Given the description of an element on the screen output the (x, y) to click on. 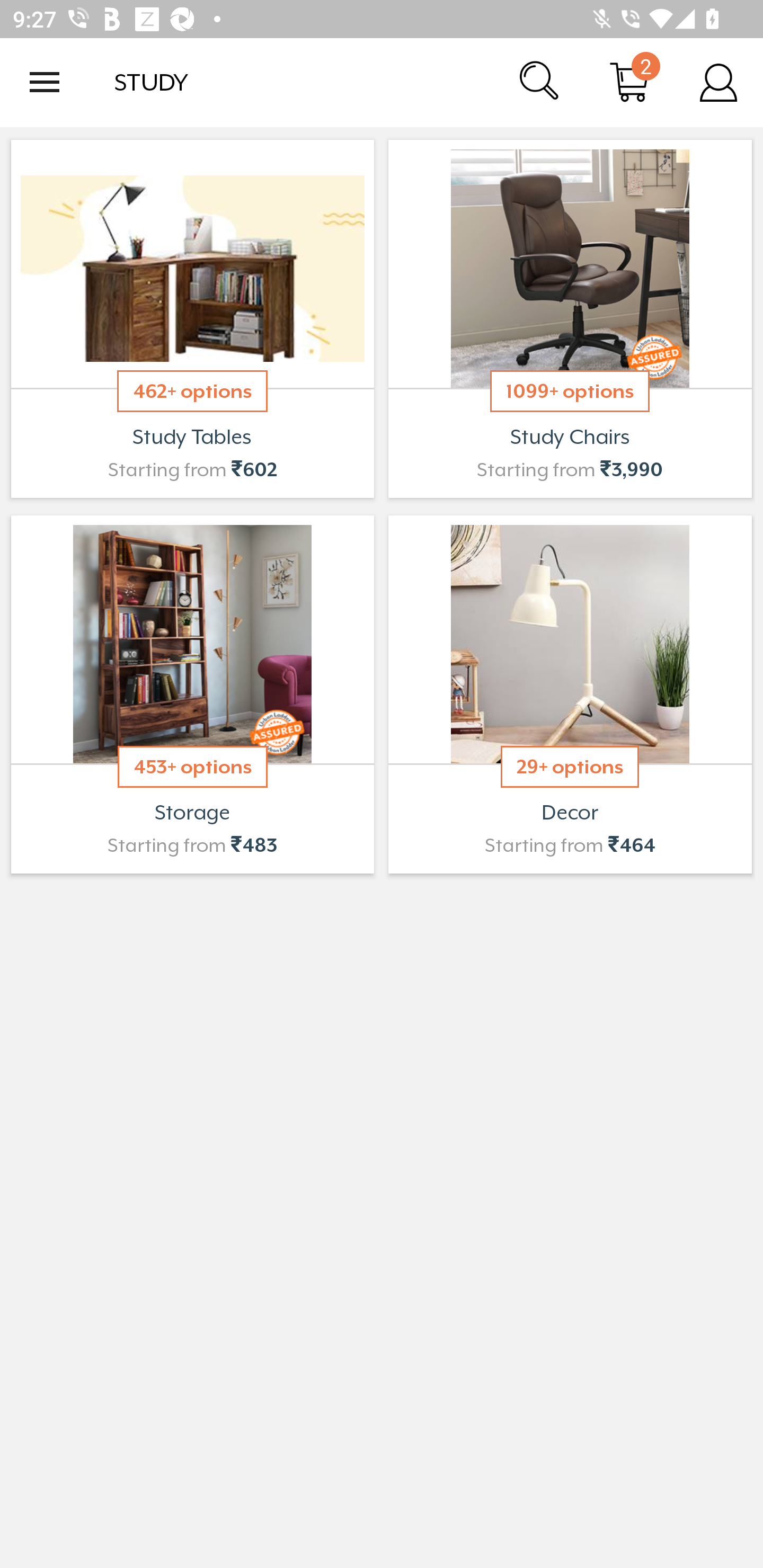
Open navigation drawer (44, 82)
Search (540, 81)
Cart (629, 81)
Account Details (718, 81)
462+ options Study Tables Starting from  ₹602 (191, 318)
1099+ options Study Chairs Starting from  ₹3,990 (570, 318)
453+ options Storage Starting from  ₹483 (191, 694)
29+ options Decor Starting from  ₹464 (570, 694)
